Given the description of an element on the screen output the (x, y) to click on. 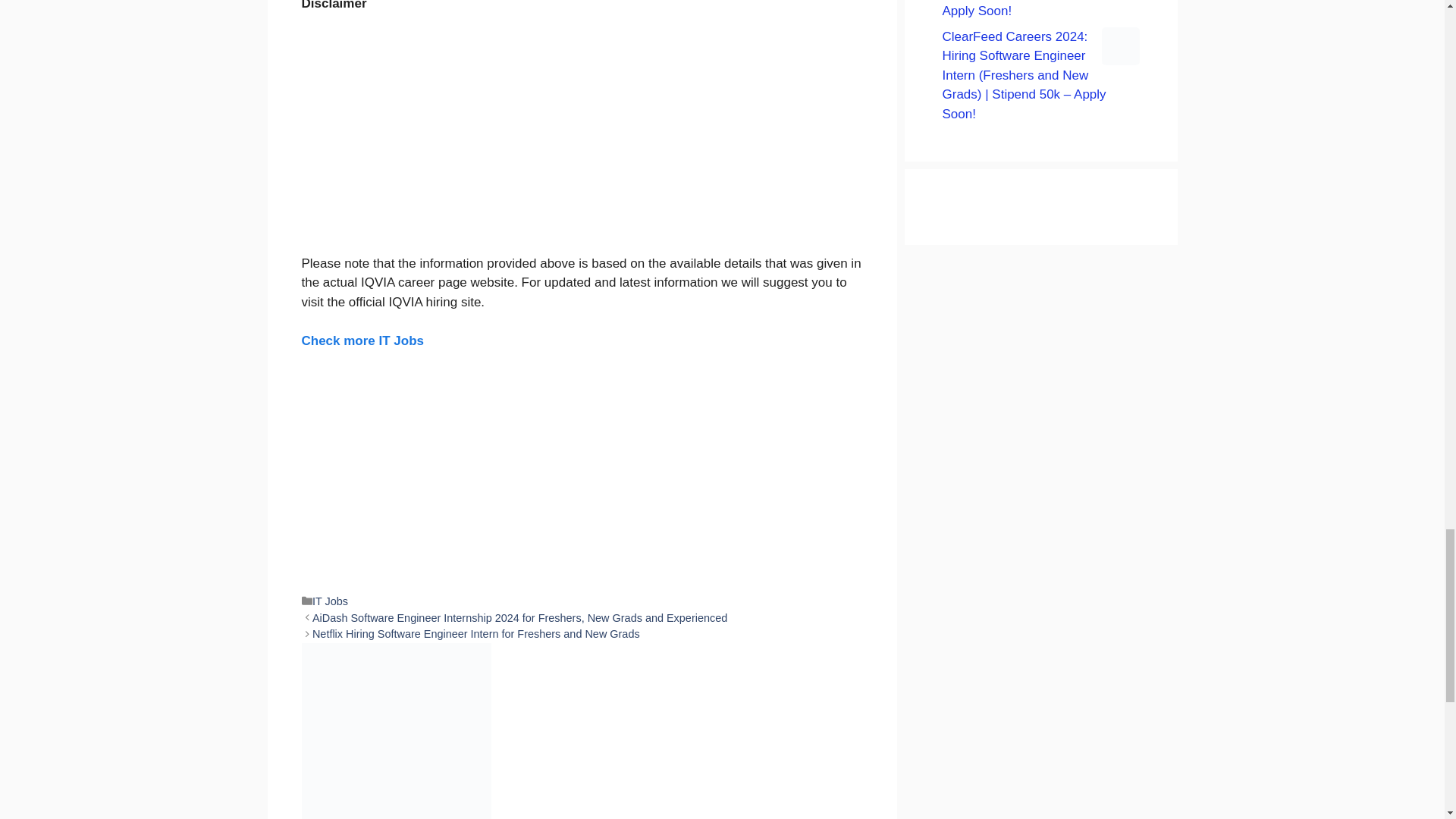
Check more IT Jobs (363, 340)
IT Jobs (330, 601)
